Given the description of an element on the screen output the (x, y) to click on. 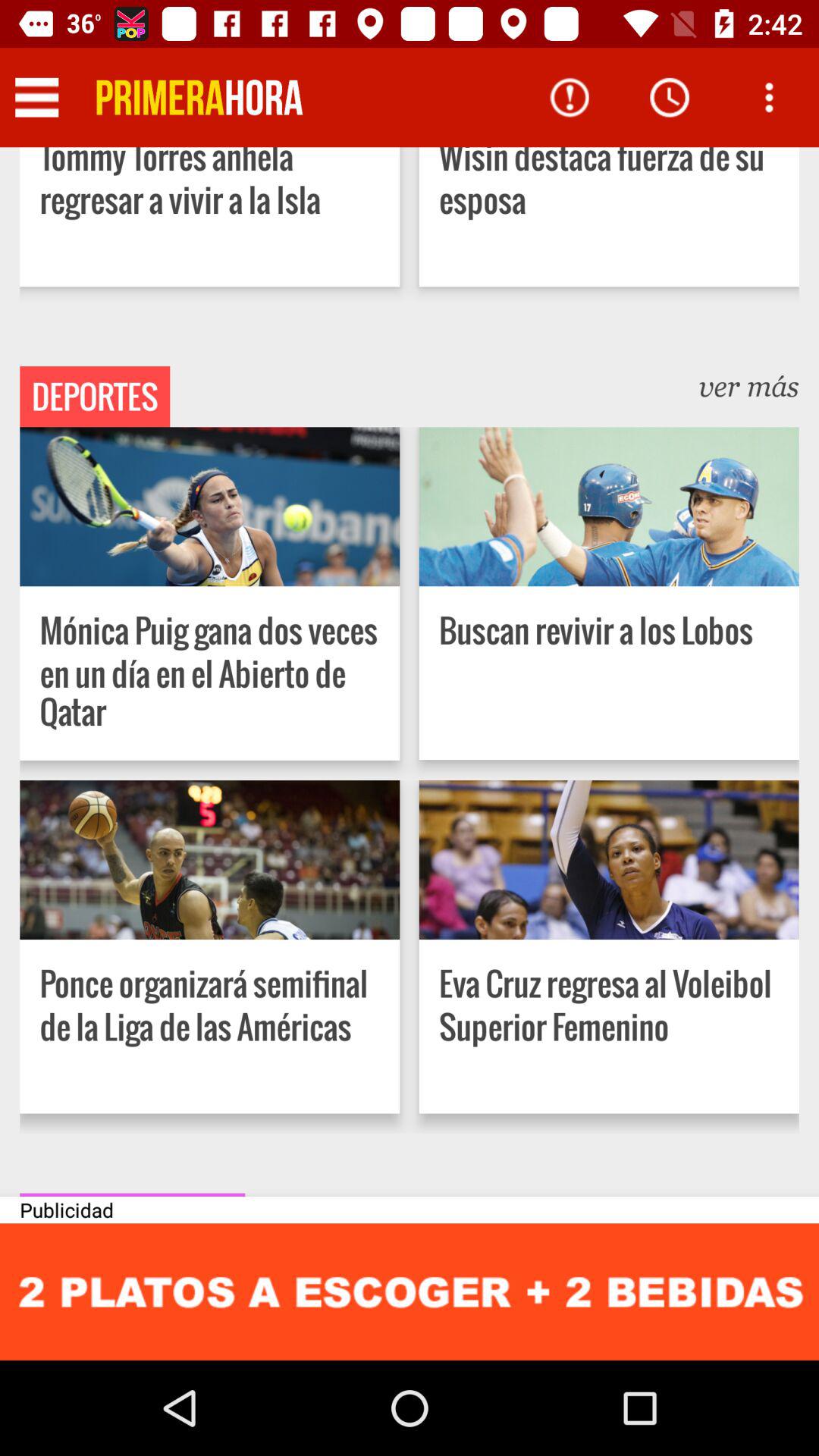
name of website (199, 97)
